Given the description of an element on the screen output the (x, y) to click on. 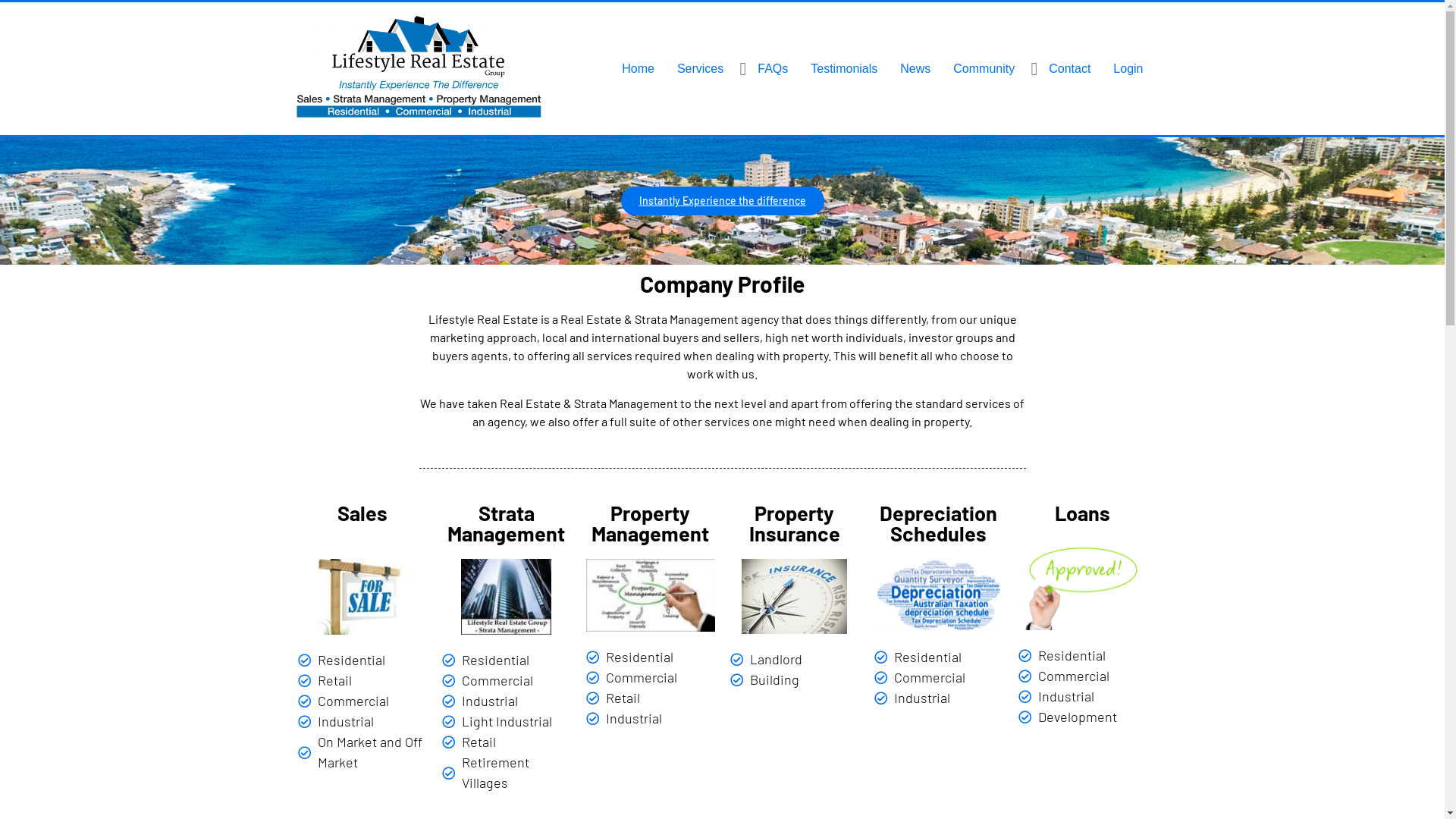
Services Element type: text (699, 68)
image_desktop.jpg-2.jpg Element type: hover (649, 594)
image_desktop-1.jpg Element type: hover (506, 596)
Login Element type: text (1127, 68)
Home Element type: text (637, 68)
Community Element type: text (983, 68)
Instantly Experience the difference Element type: text (721, 200)
Contact Element type: text (1069, 68)
Home Element type: text (722, 158)
image_desktop.jpg Element type: hover (361, 596)
News Element type: text (914, 68)
FAQs Element type: text (772, 68)
Testimonials Element type: text (843, 68)
